Given the description of an element on the screen output the (x, y) to click on. 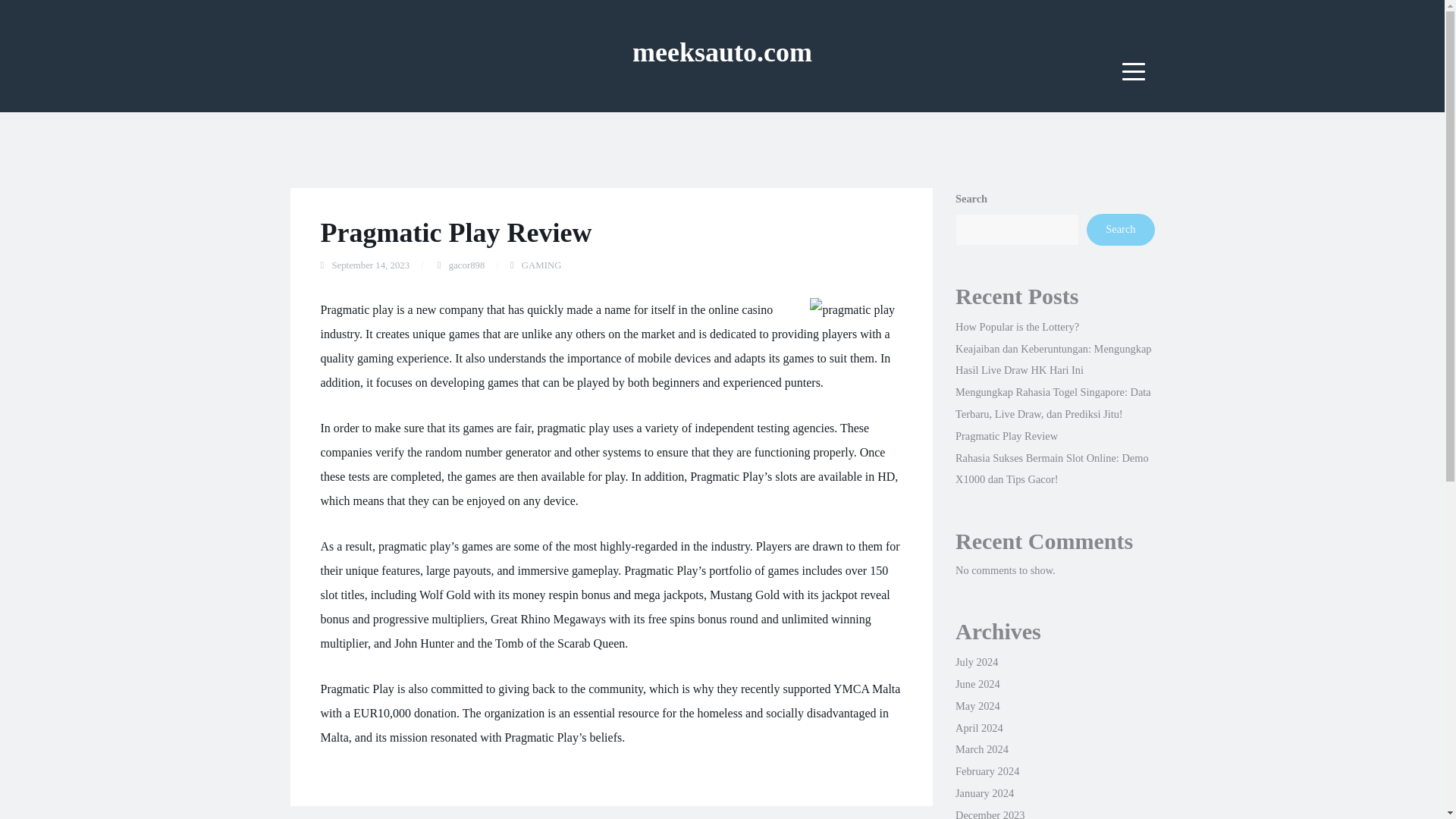
February 2024 (987, 770)
September 14, 2023 (370, 265)
April 2024 (979, 727)
January 2024 (984, 793)
gacor898 (466, 265)
Pragmatic Play Review (1006, 435)
May 2024 (977, 705)
March 2024 (982, 748)
meeksauto.com (721, 51)
December 2023 (990, 814)
Menu (1133, 71)
GAMING (541, 265)
How Popular is the Lottery? (1016, 326)
